Given the description of an element on the screen output the (x, y) to click on. 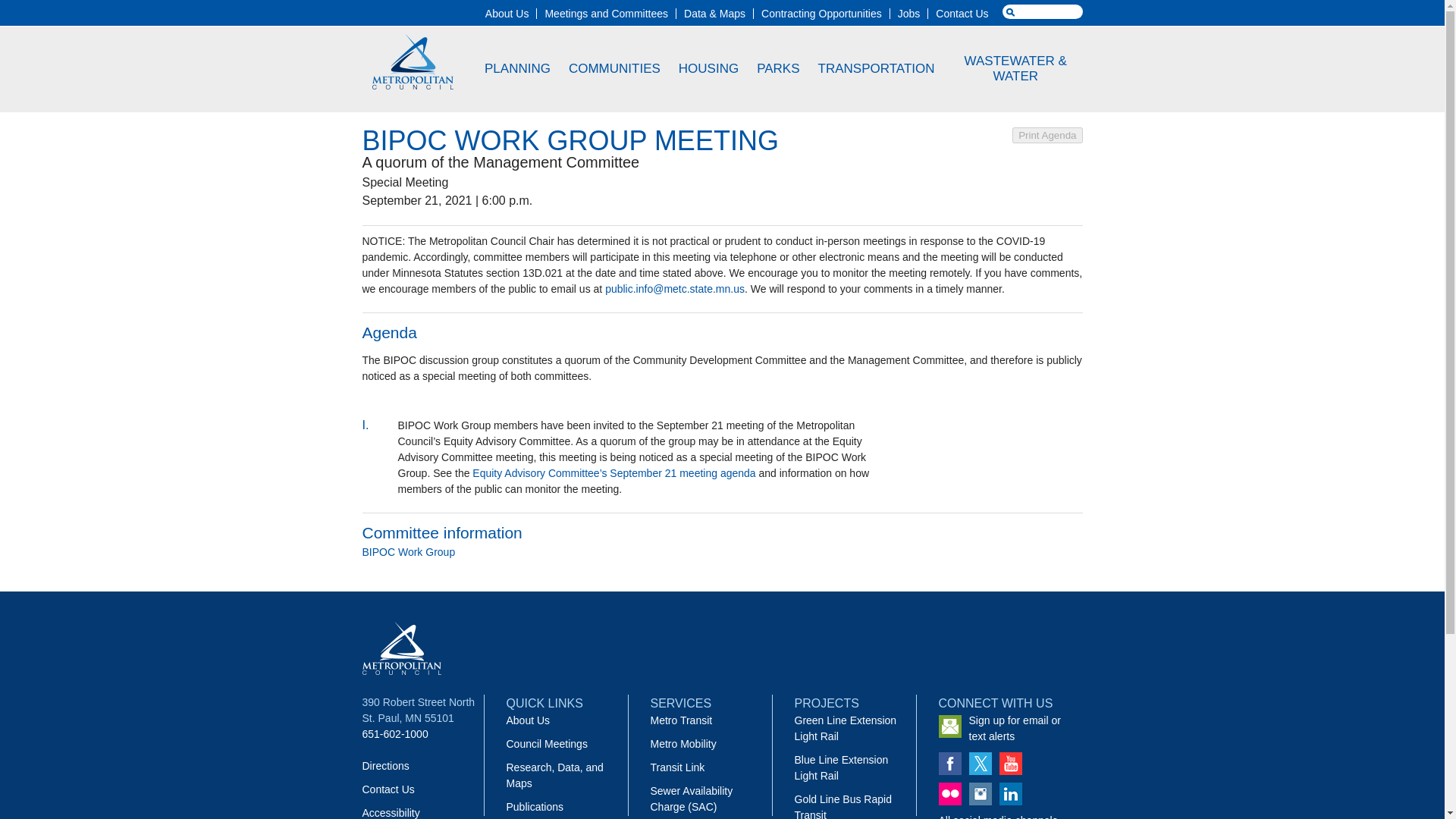
Print Agenda (1046, 135)
COMMUNITIES (614, 69)
Meetings and Committees (606, 13)
PLANNING (517, 69)
Search Box (1043, 11)
About Us (506, 13)
Search (29, 7)
Jobs (909, 13)
HOUSING (708, 69)
Contracting Opportunities (821, 13)
